Given the description of an element on the screen output the (x, y) to click on. 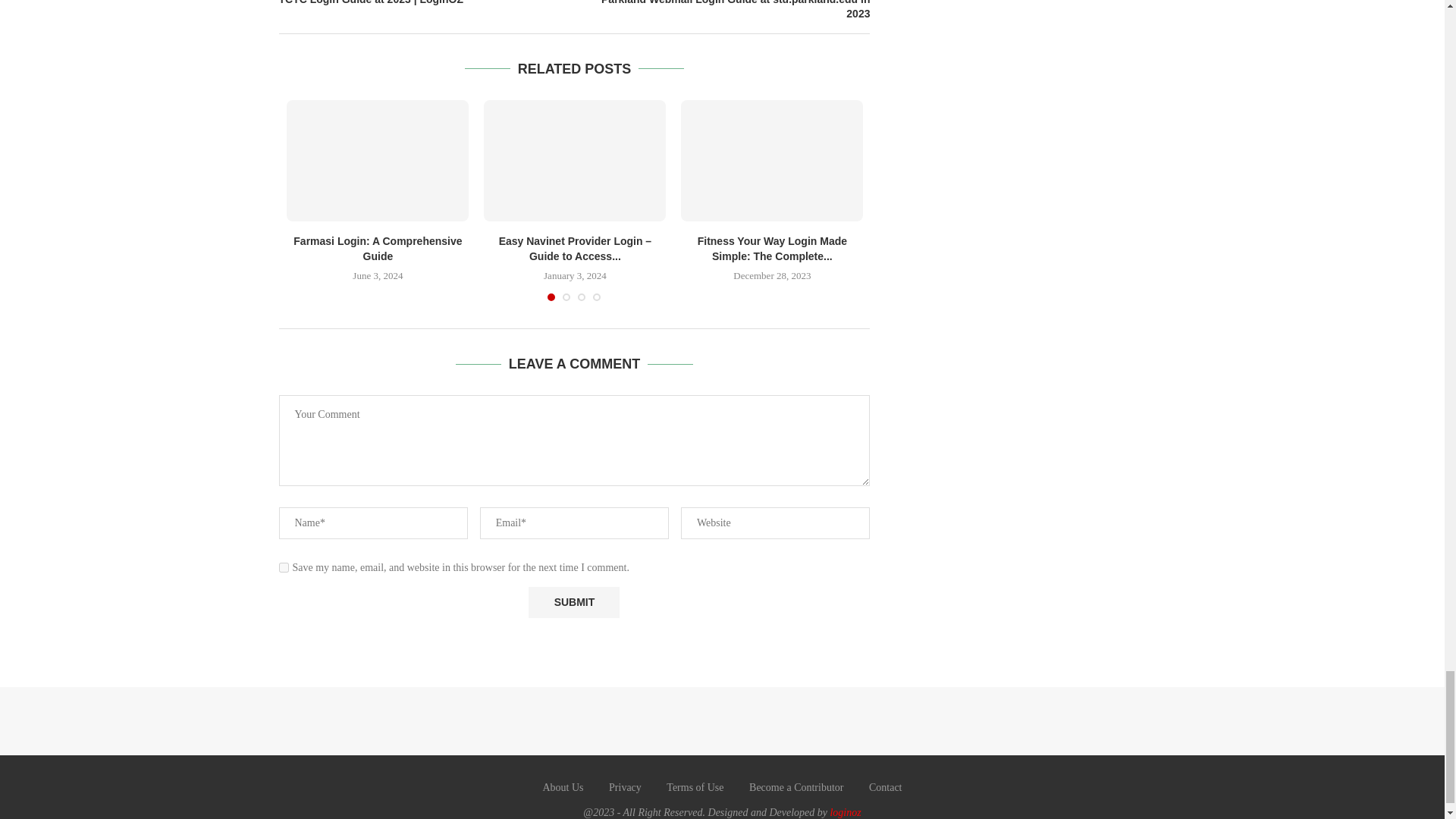
yes (283, 567)
Submit (574, 602)
